Given the description of an element on the screen output the (x, y) to click on. 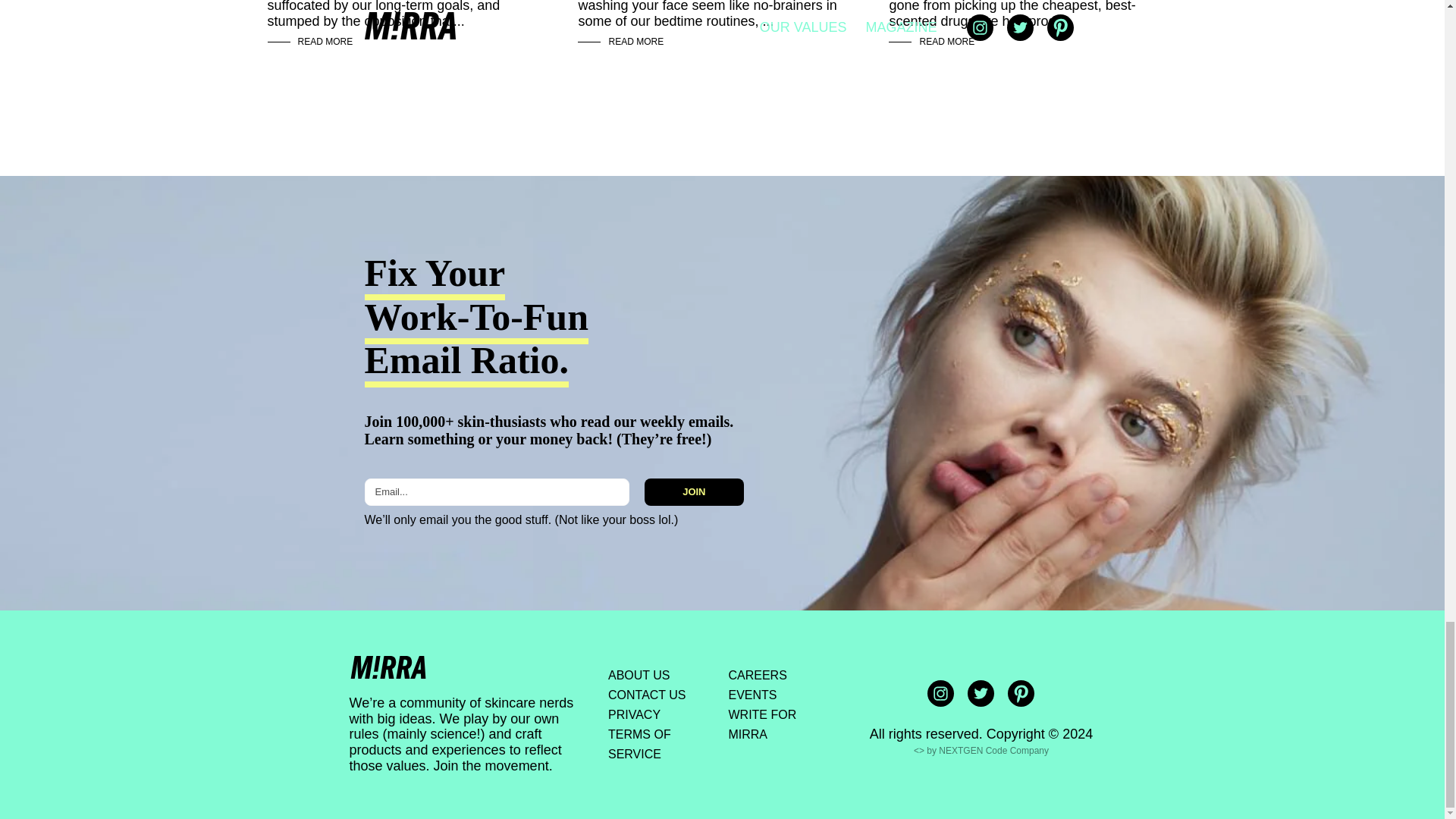
READ MORE (324, 41)
JOIN (693, 492)
READ MORE (635, 41)
READ MORE (946, 41)
